Given the description of an element on the screen output the (x, y) to click on. 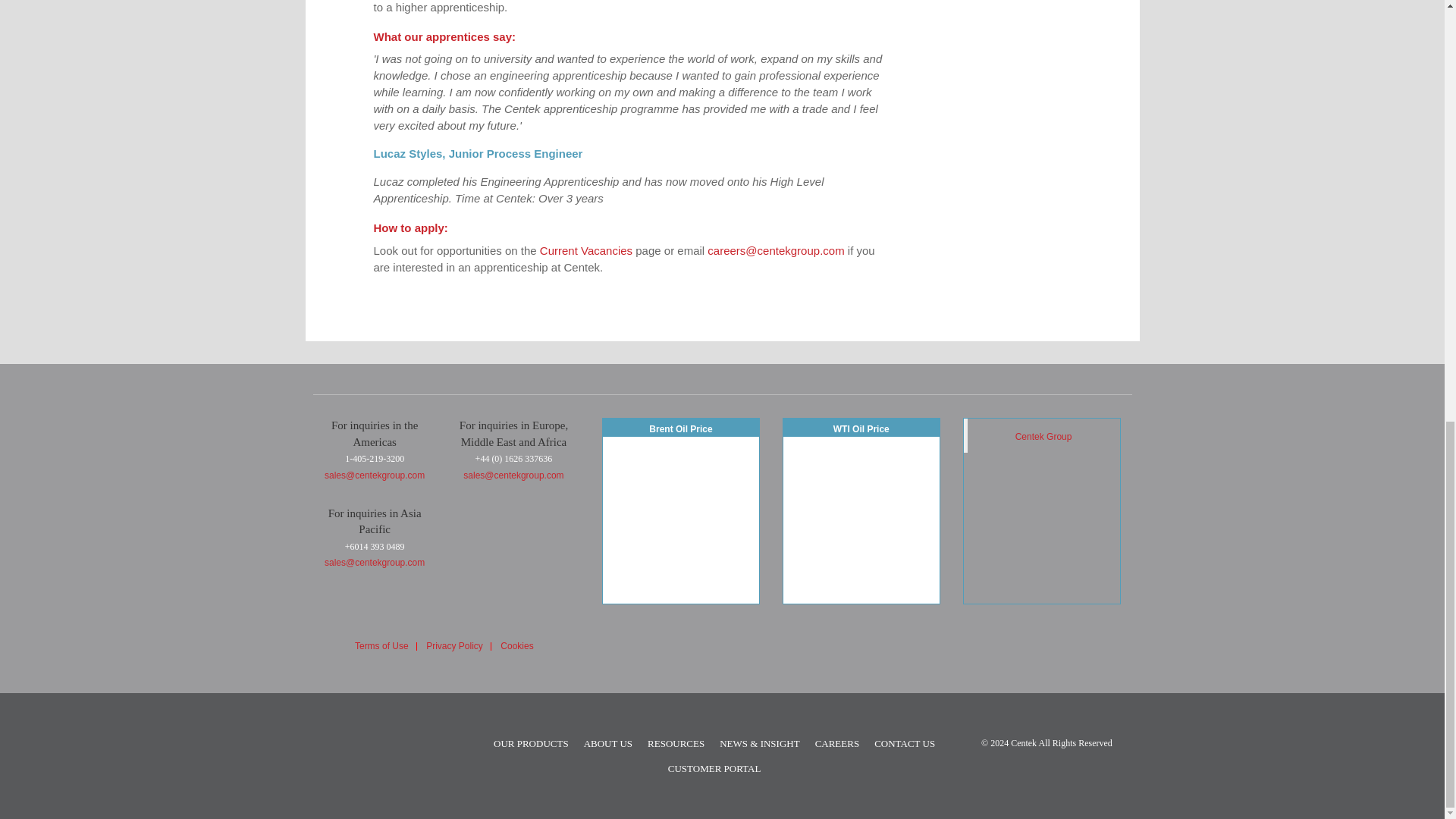
About Us (607, 743)
Our Products (531, 743)
Careers (837, 743)
Terms of Use (381, 646)
Brent Chart (680, 519)
WTI Chart (861, 519)
Current Vacancies (585, 250)
Resources (675, 743)
Contact Us (904, 743)
Privacy Policy (455, 646)
Cookies (516, 646)
